Given the description of an element on the screen output the (x, y) to click on. 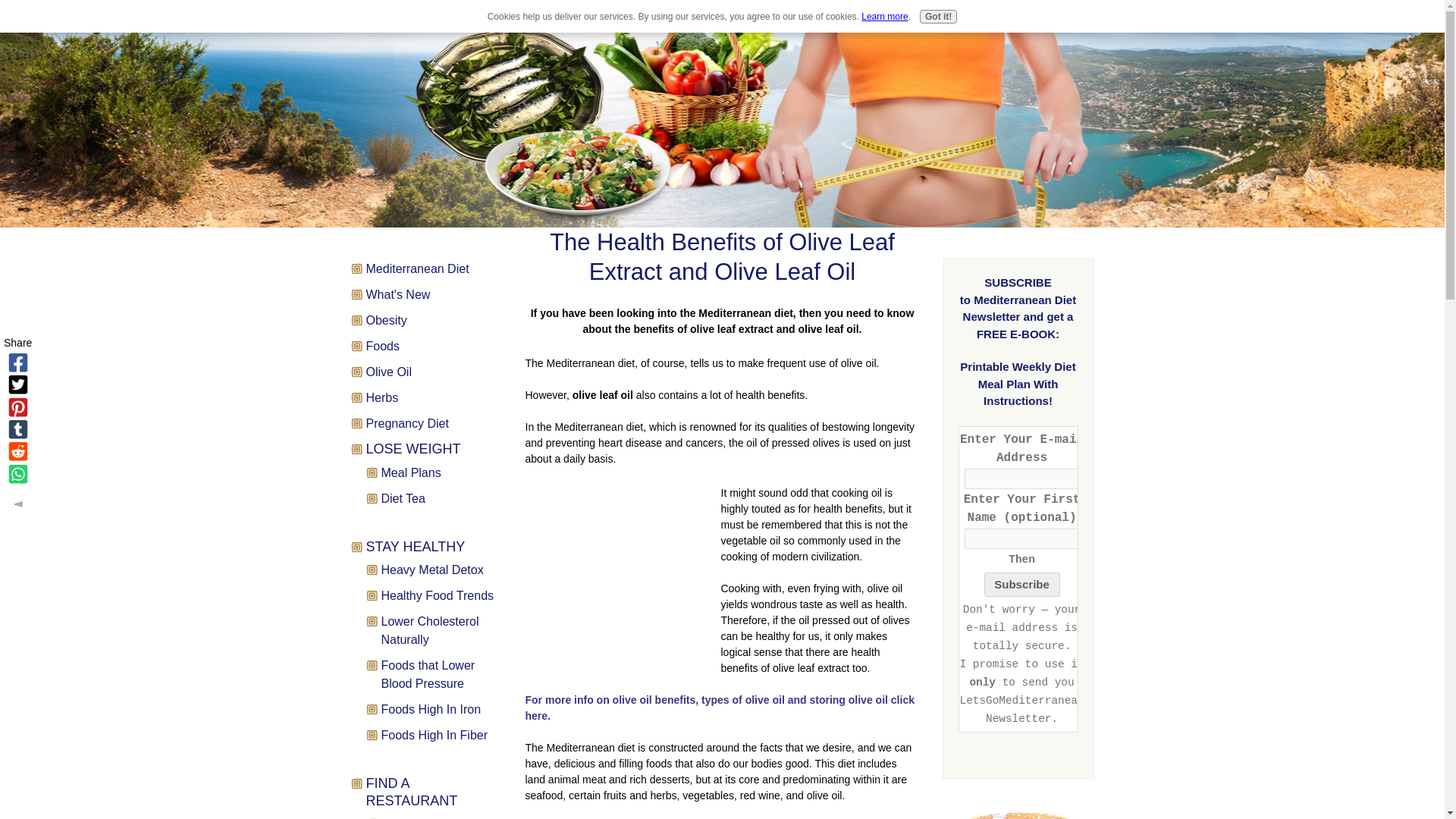
Mediterranean Restaurants (441, 816)
What's New (433, 294)
Advertisement (622, 583)
Herbs (433, 398)
Foods High In Fiber (441, 735)
free diet meal plans (1017, 813)
Olive Oil (433, 372)
Foods High In Iron (441, 710)
Diet Tea (441, 498)
